Given the description of an element on the screen output the (x, y) to click on. 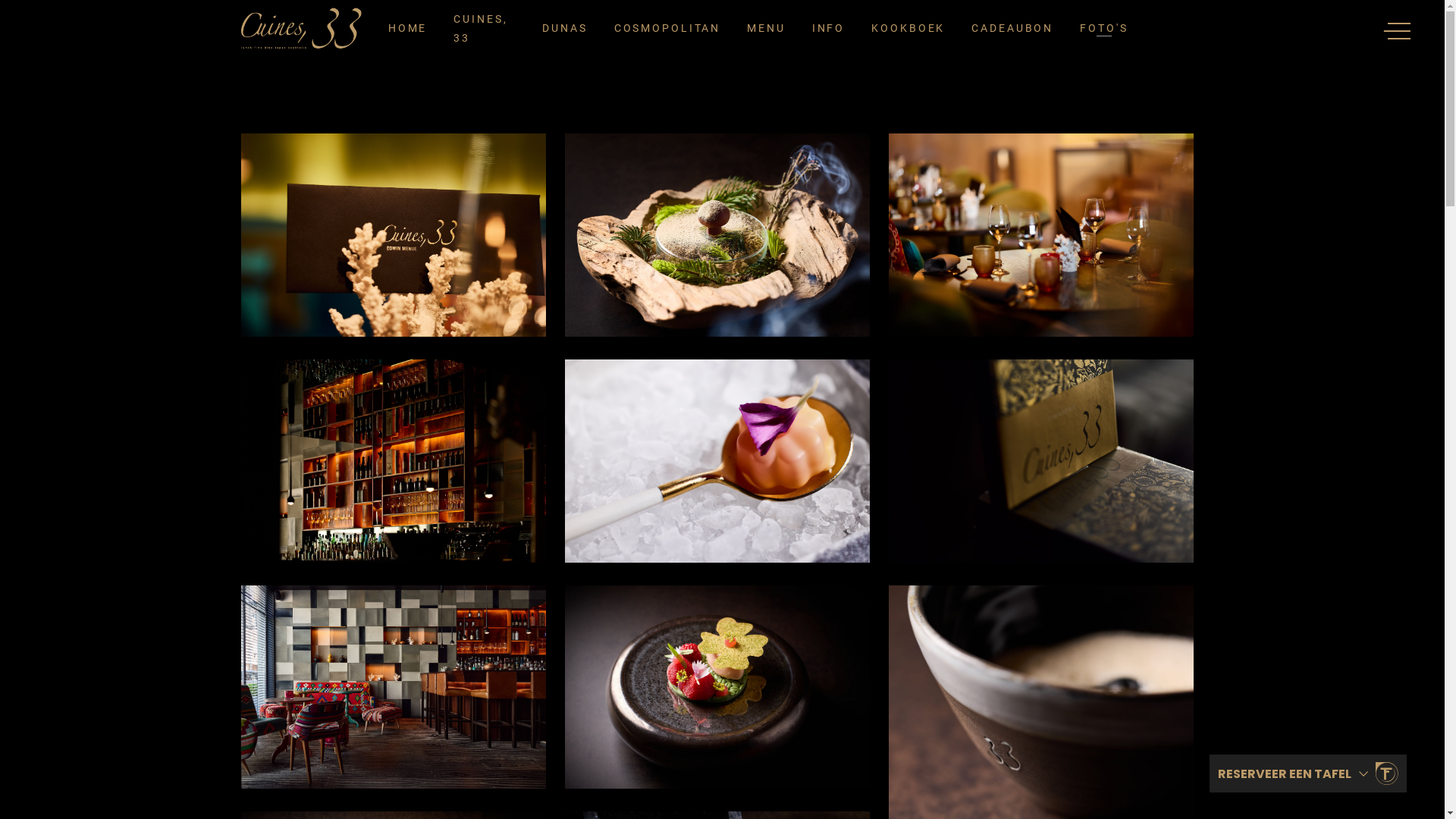
KOOKBOEK Element type: text (907, 28)
FOTO'S Element type: text (1103, 28)
DUNAS Element type: text (564, 28)
MENU Element type: text (765, 28)
INFO Element type: text (828, 28)
HOME Element type: text (407, 28)
CUINES, 33 Element type: text (480, 28)
CADEAUBON Element type: text (1012, 28)
COSMOPOLITAN Element type: text (667, 28)
